Given the description of an element on the screen output the (x, y) to click on. 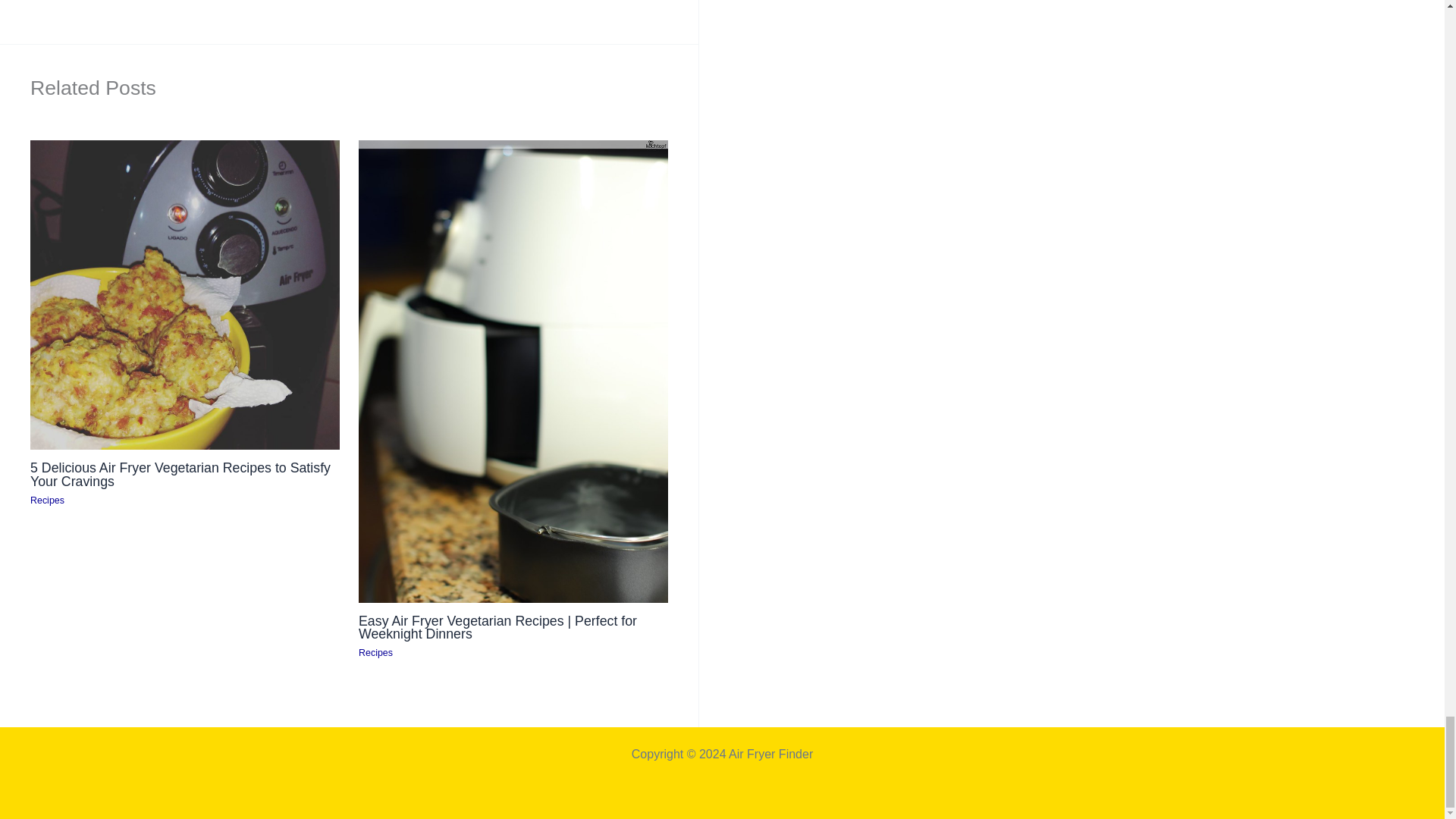
Recipes (47, 500)
Recipes (375, 652)
